Given the description of an element on the screen output the (x, y) to click on. 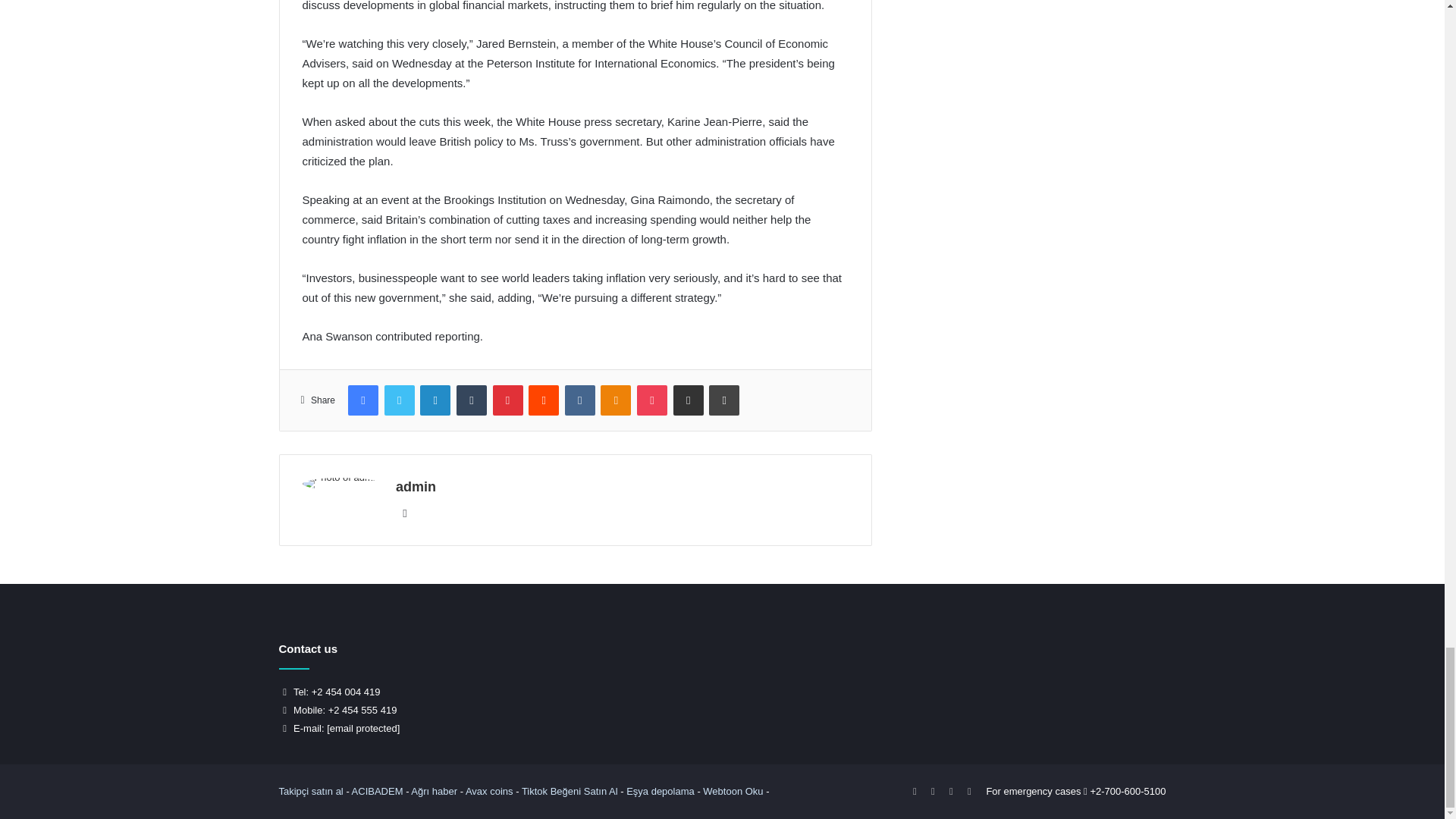
LinkedIn (434, 399)
Facebook (362, 399)
Pinterest (507, 399)
Tumblr (471, 399)
Reddit (543, 399)
Twitter (399, 399)
VKontakte (579, 399)
Odnoklassniki (614, 399)
